Given the description of an element on the screen output the (x, y) to click on. 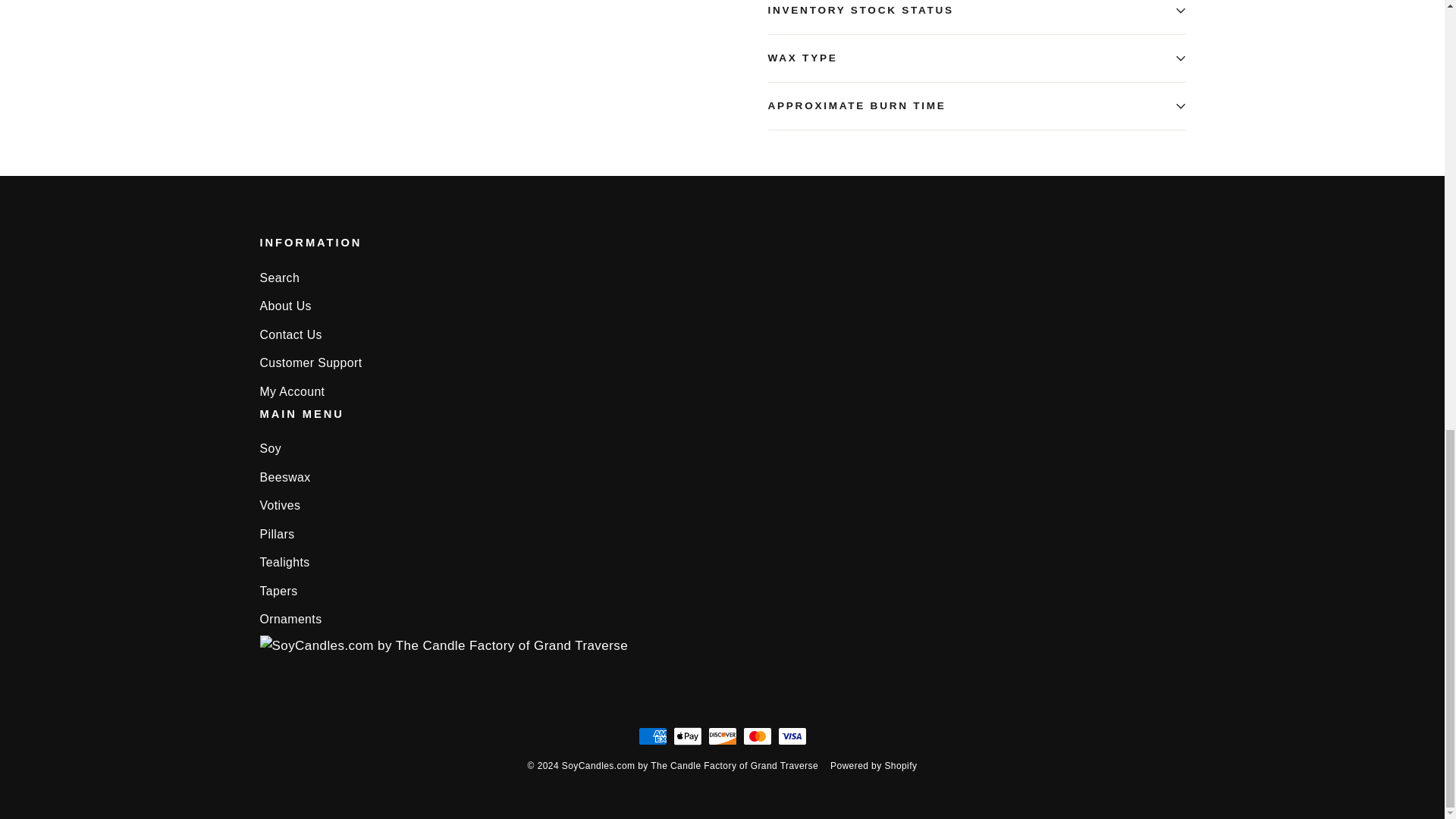
American Express (652, 736)
Mastercard (756, 736)
Visa (791, 736)
Discover (721, 736)
Apple Pay (686, 736)
